Given the description of an element on the screen output the (x, y) to click on. 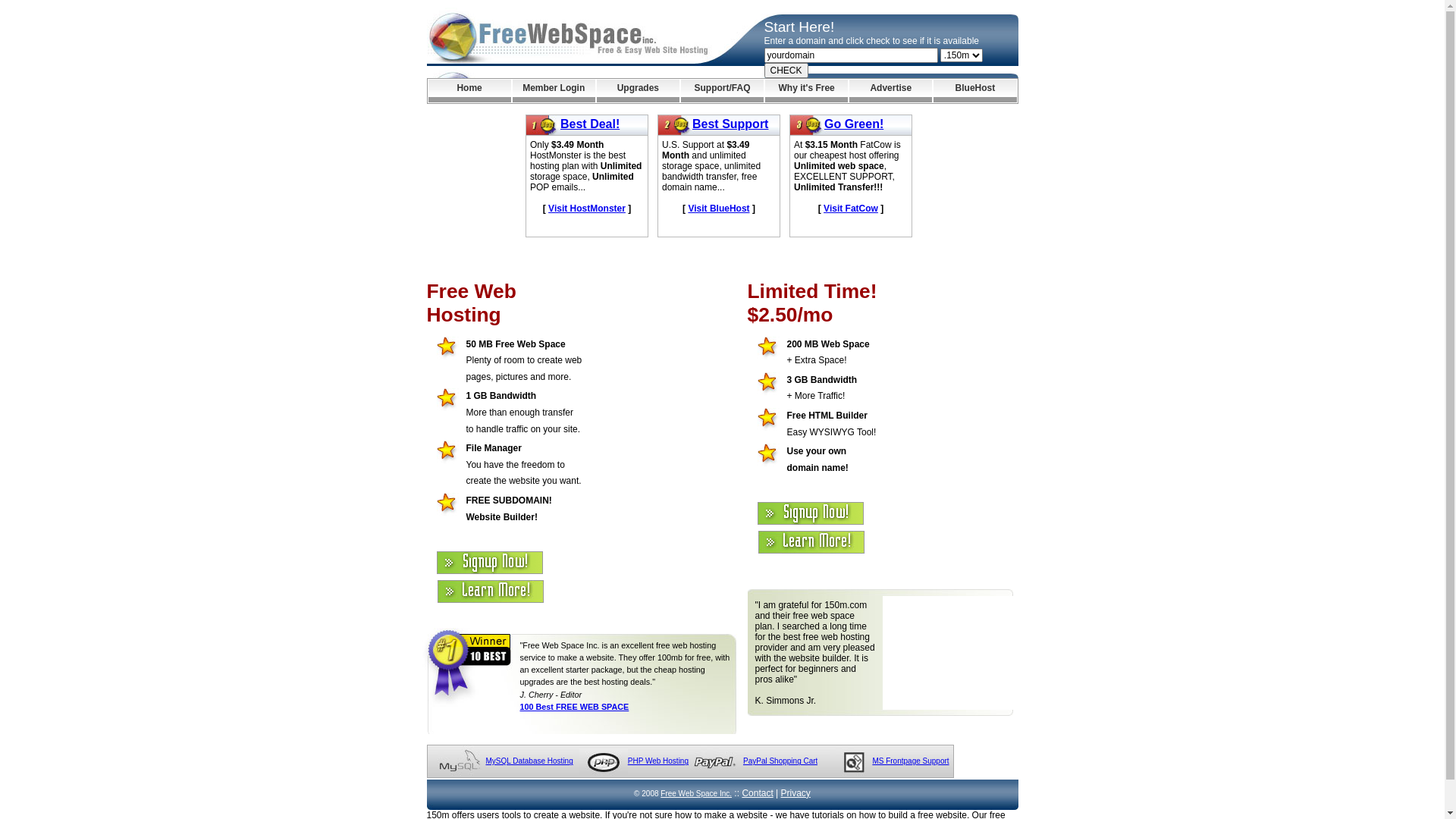
MS Frontpage Support Element type: text (910, 760)
CHECK Element type: text (786, 70)
Contact Element type: text (756, 792)
Advertise Element type: text (890, 90)
100 Best FREE WEB SPACE Element type: text (574, 706)
Support/FAQ Element type: text (721, 90)
PayPal Shopping Cart Element type: text (780, 760)
PHP Web Hosting Element type: text (657, 760)
Free Web Space Inc. Element type: text (695, 793)
BlueHost Element type: text (974, 90)
Upgrades Element type: text (637, 90)
MySQL Database Hosting Element type: text (528, 760)
Why it's Free Element type: text (806, 90)
Home Element type: text (468, 90)
Member Login Element type: text (553, 90)
Privacy Element type: text (795, 792)
